Given the description of an element on the screen output the (x, y) to click on. 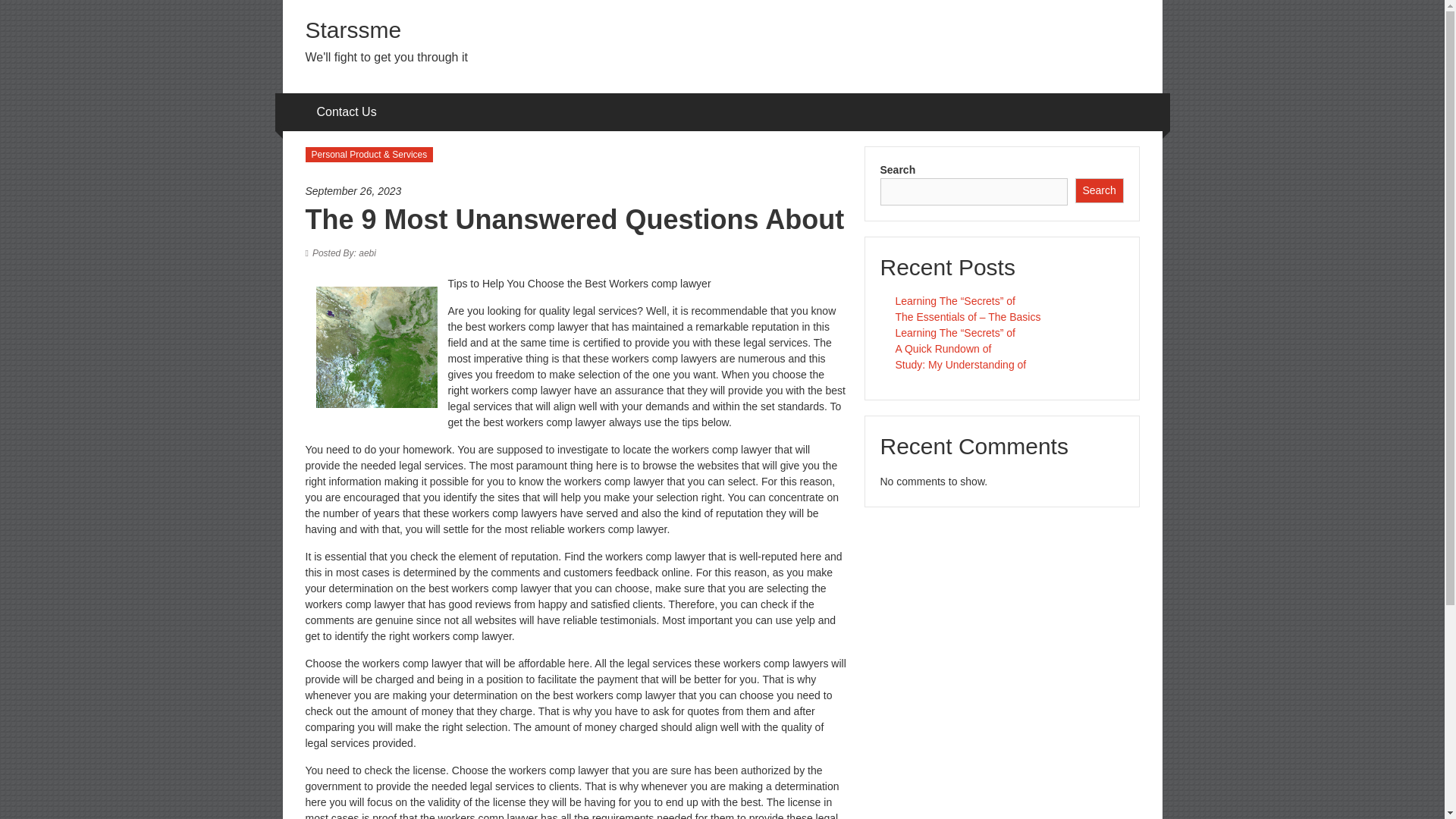
Contact Us (347, 112)
aebi (344, 253)
Starssme (352, 29)
Search (1099, 190)
September 26, 2023 (575, 191)
Starssme (352, 29)
A Quick Rundown of (943, 348)
11:56 am (575, 191)
Study: My Understanding of (960, 364)
Posted By: aebi (344, 253)
